Given the description of an element on the screen output the (x, y) to click on. 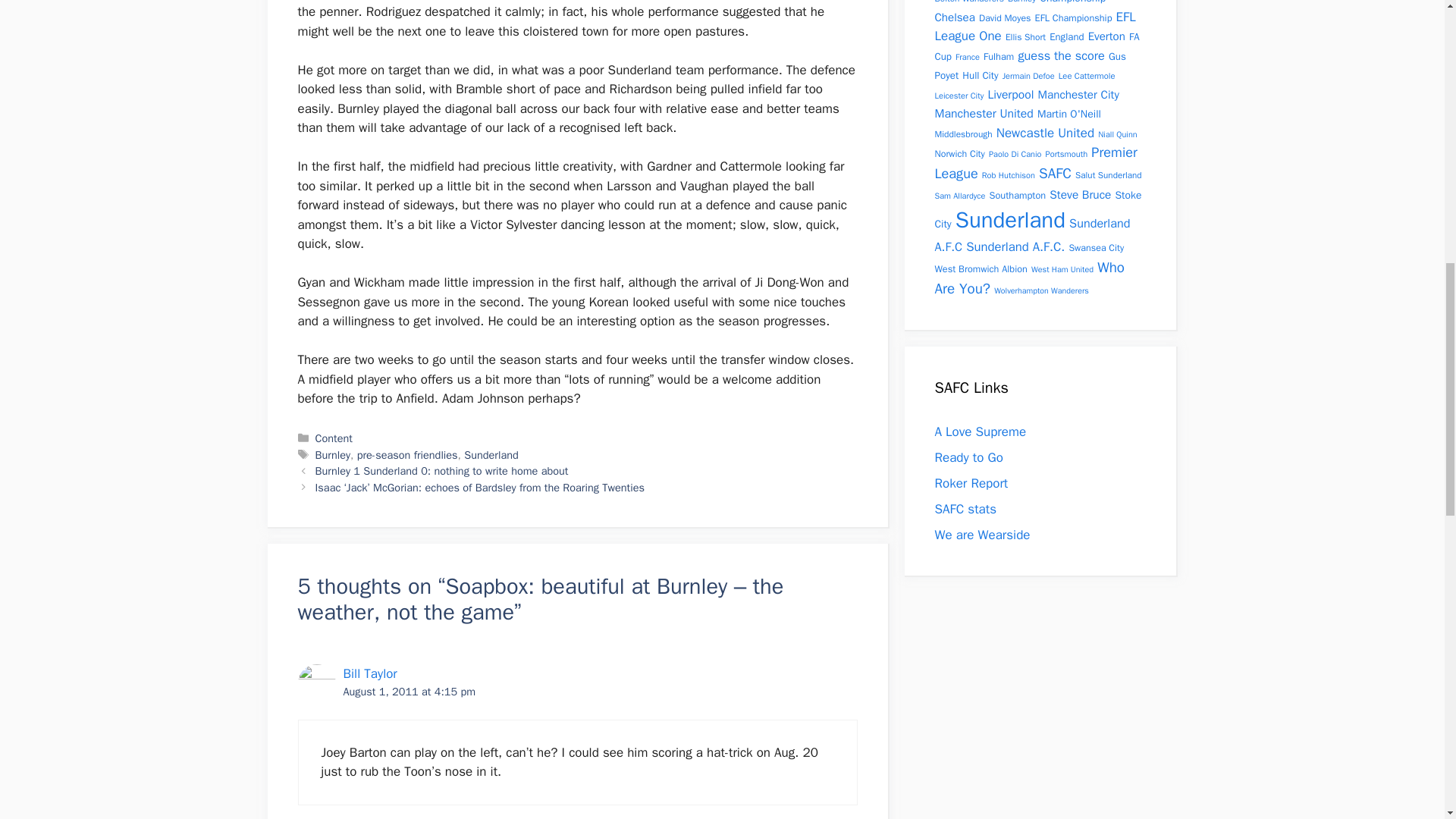
Championship (1072, 2)
Burnley (1021, 2)
Burnley 1 Sunderland 0: nothing to write home about (442, 470)
Sunderland (491, 454)
EFL League One (1034, 27)
Burnley (332, 454)
Bolton Wanderers (968, 2)
Everton (1106, 35)
Chelsea (954, 16)
David Moyes (1004, 18)
